Given the description of an element on the screen output the (x, y) to click on. 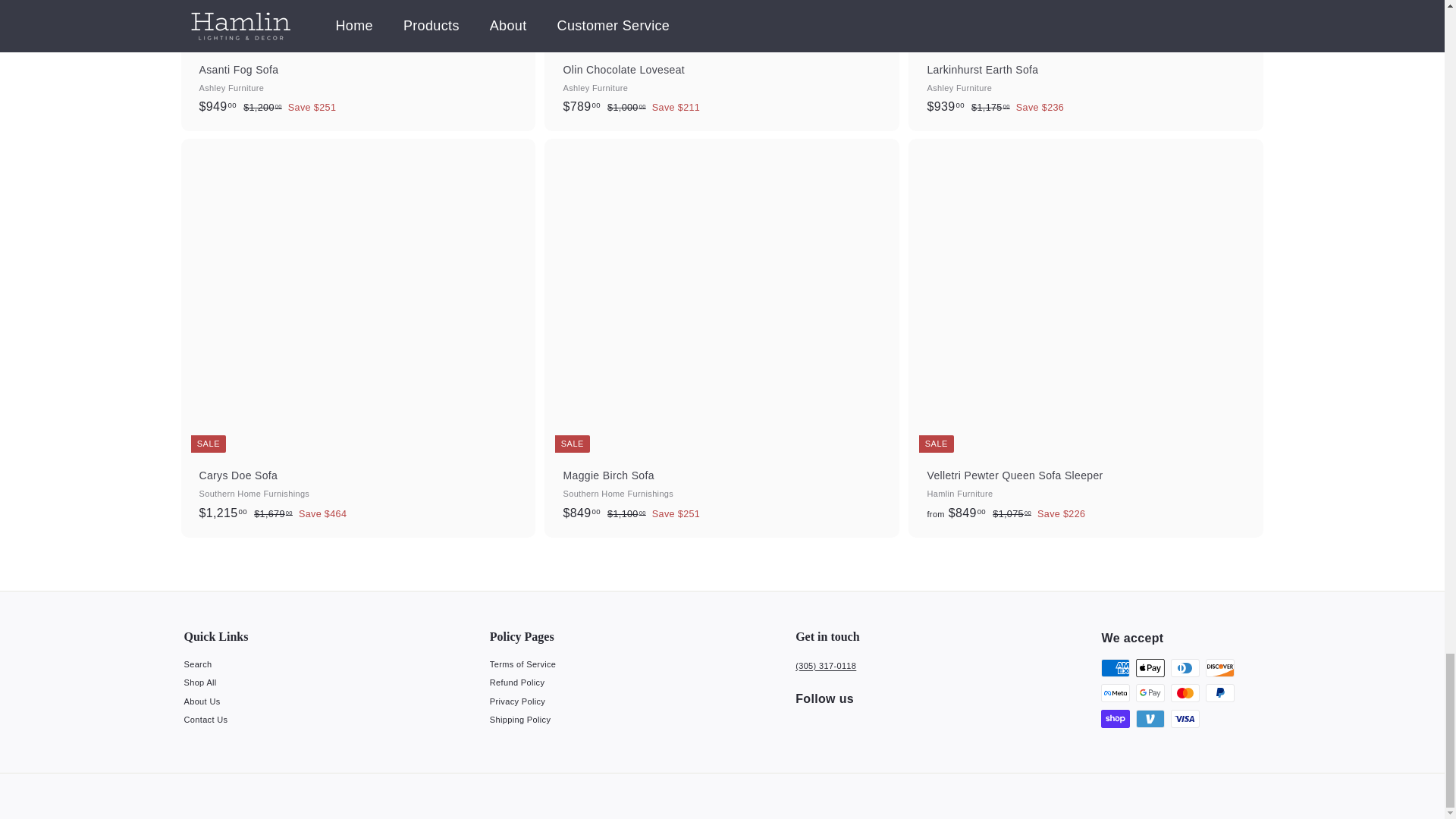
Visa (1184, 719)
Meta Pay (1114, 692)
Apple Pay (1149, 668)
Mastercard (1184, 692)
PayPal (1219, 692)
Diners Club (1184, 668)
Discover (1219, 668)
Venmo (1149, 719)
American Express (1114, 668)
Shop Pay (1114, 719)
Google Pay (1149, 692)
